Given the description of an element on the screen output the (x, y) to click on. 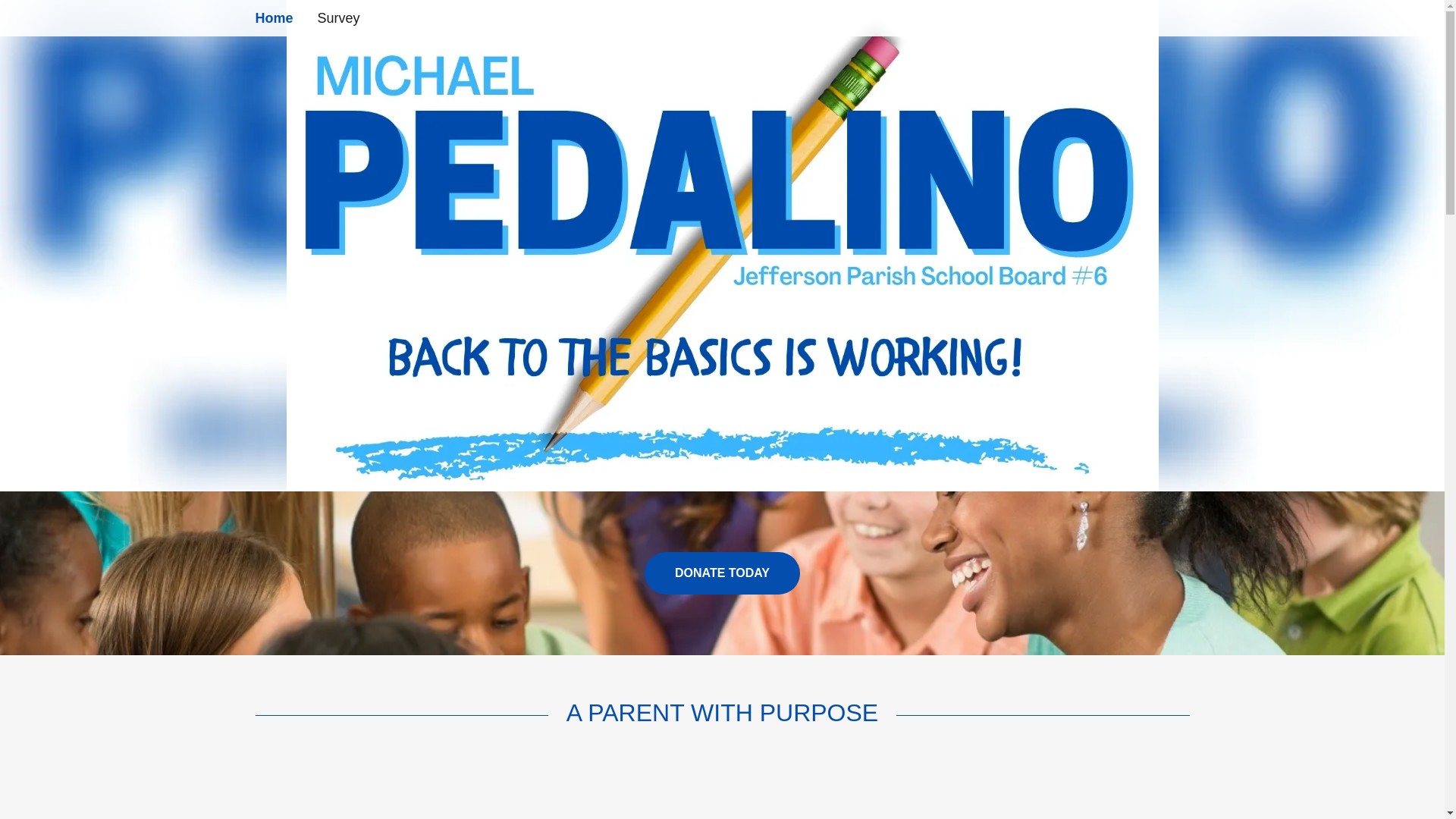
Home (273, 18)
Survey (339, 17)
DONATE TODAY (722, 573)
